Given the description of an element on the screen output the (x, y) to click on. 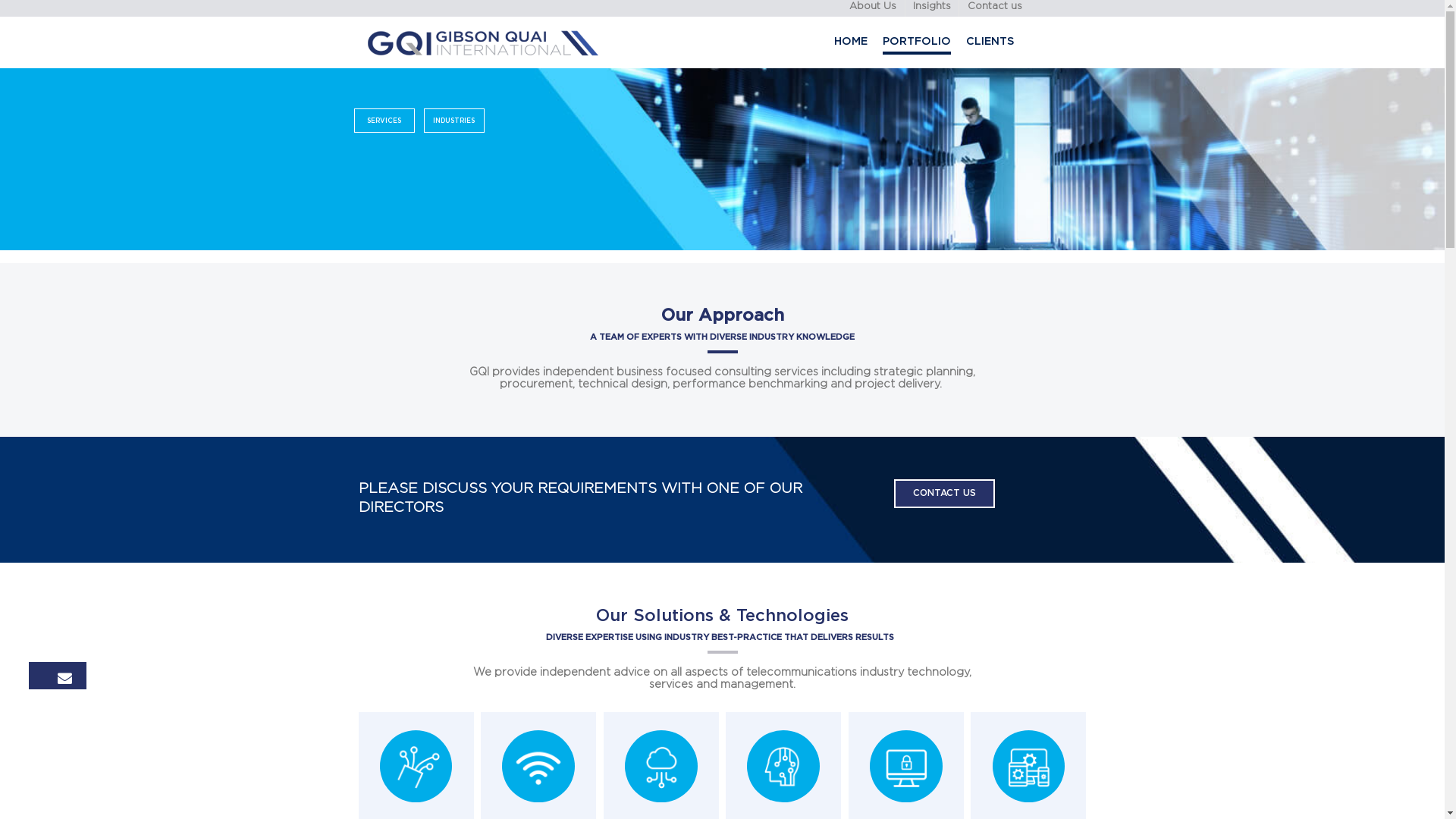
PORTFOLIO Element type: text (1146, 52)
CLIENTS Element type: text (1238, 52)
CONTACT US Element type: text (1180, 616)
INDUSTRIES Element type: text (567, 151)
SERVICES Element type: text (479, 151)
HOME Element type: text (1063, 52)
